Given the description of an element on the screen output the (x, y) to click on. 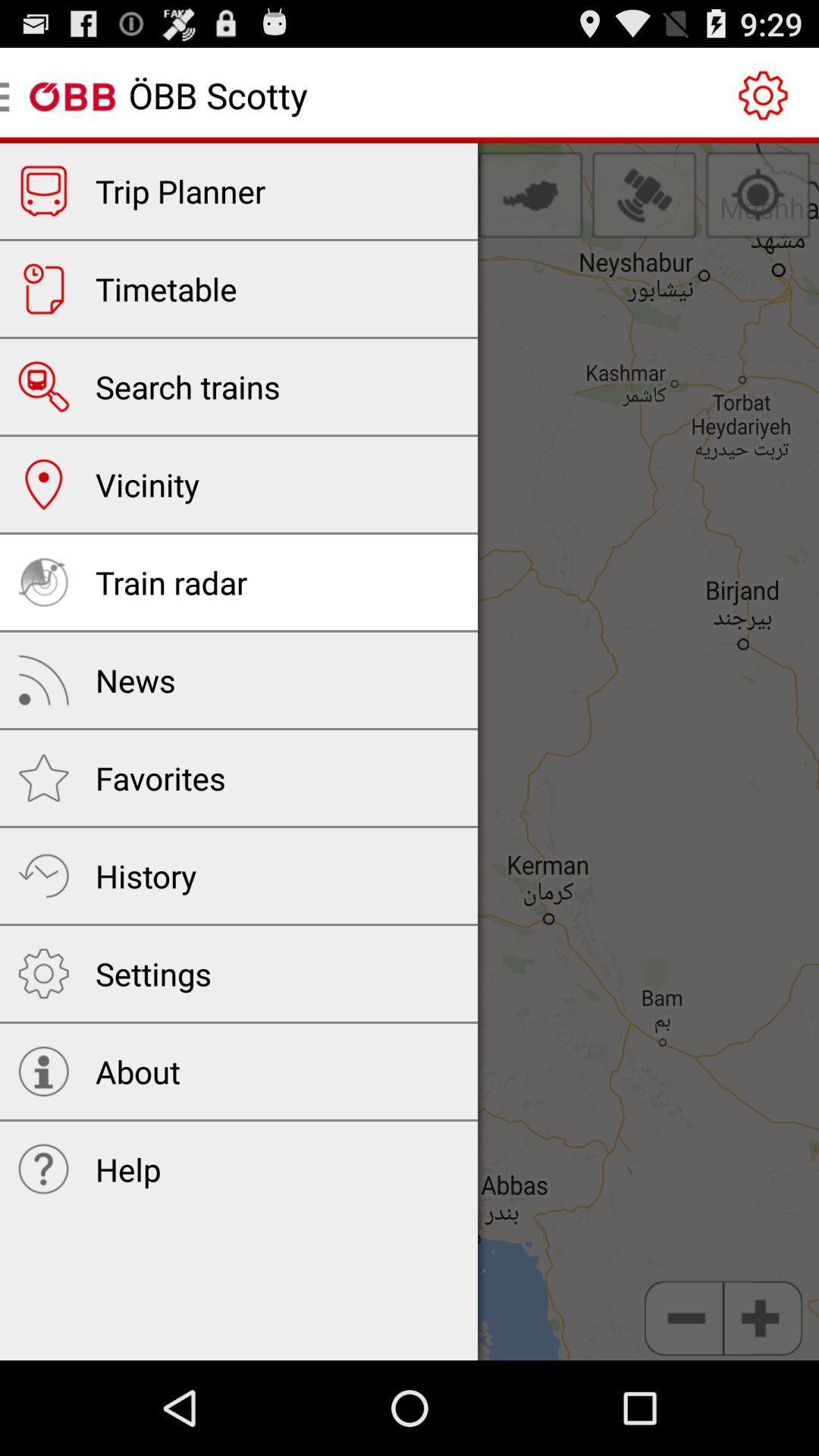
turn off the search trains icon (187, 386)
